Given the description of an element on the screen output the (x, y) to click on. 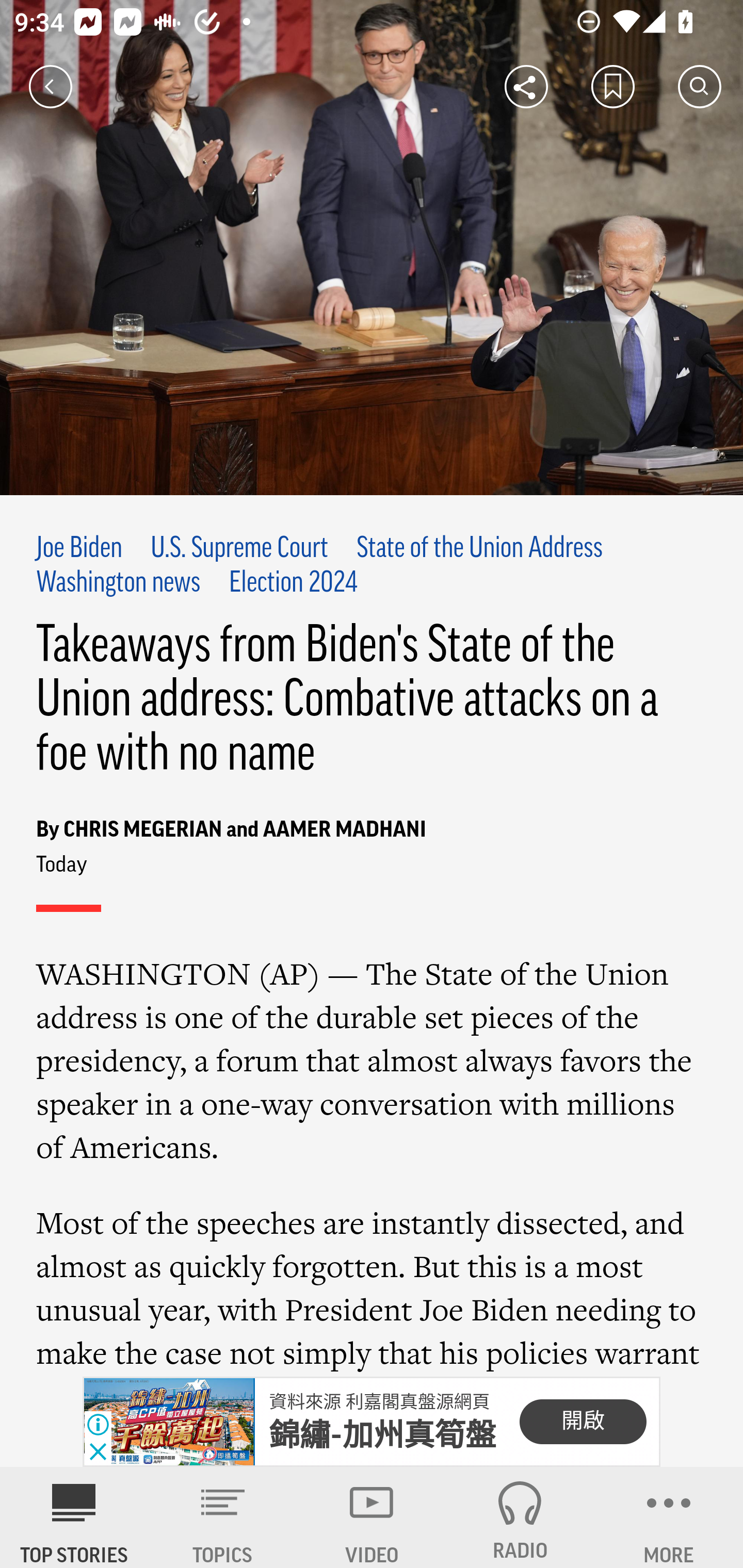
Joe Biden (79, 549)
U.S. Supreme Court (239, 549)
State of the Union Address (479, 549)
Washington news (119, 584)
Election 2024 (292, 584)
B29897659 (168, 1421)
資料來源 利嘉閣真盤源網頁 (379, 1402)
開啟 (582, 1421)
錦繡-加州真筍盤 (382, 1434)
AP News TOP STORIES (74, 1517)
TOPICS (222, 1517)
VIDEO (371, 1517)
RADIO (519, 1517)
MORE (668, 1517)
